Given the description of an element on the screen output the (x, y) to click on. 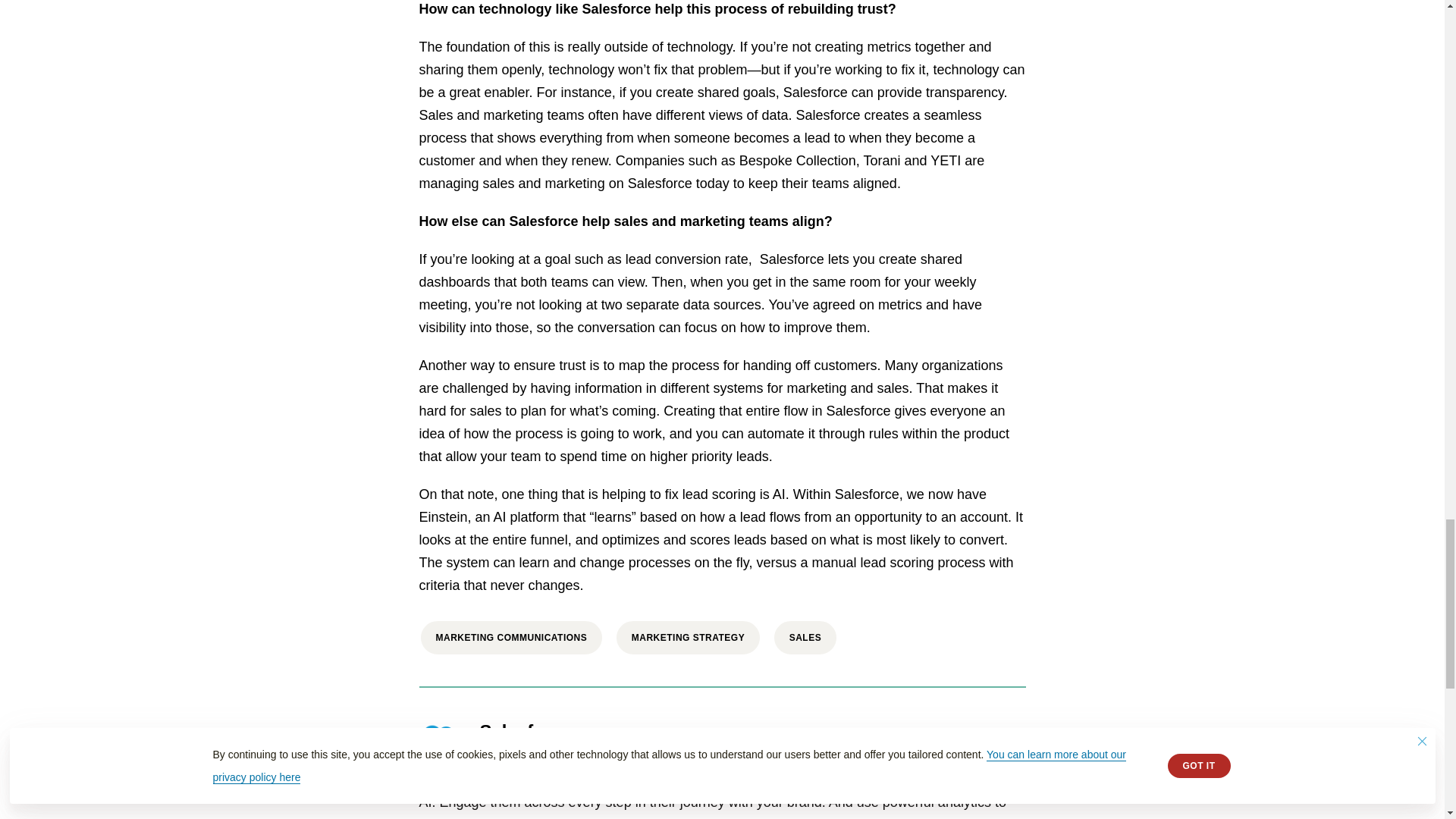
MARKETING STRATEGY (687, 637)
Salesforce (524, 733)
MARKETING COMMUNICATIONS (510, 637)
SALES (805, 637)
